Given the description of an element on the screen output the (x, y) to click on. 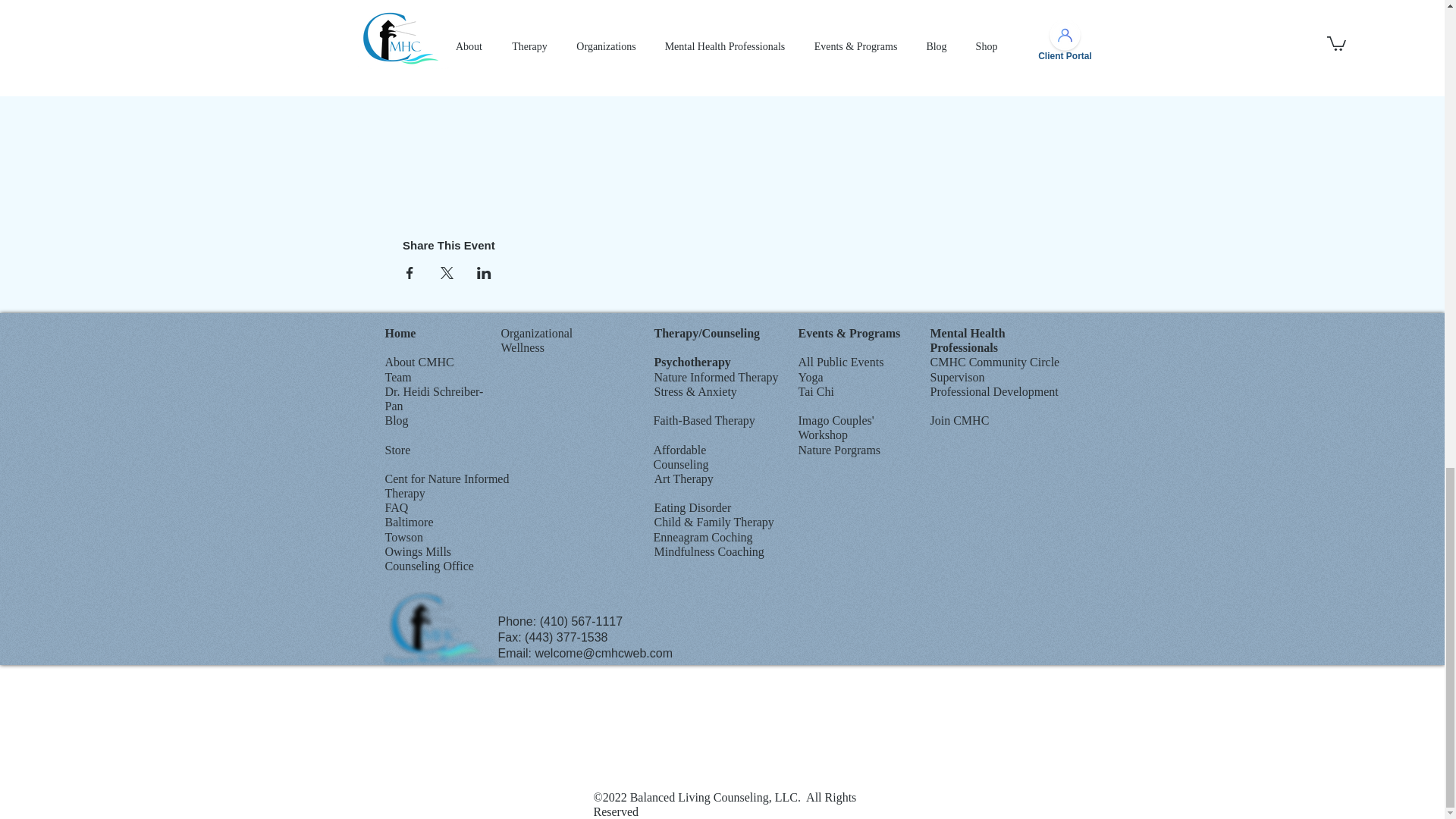
Home (400, 332)
